Given the description of an element on the screen output the (x, y) to click on. 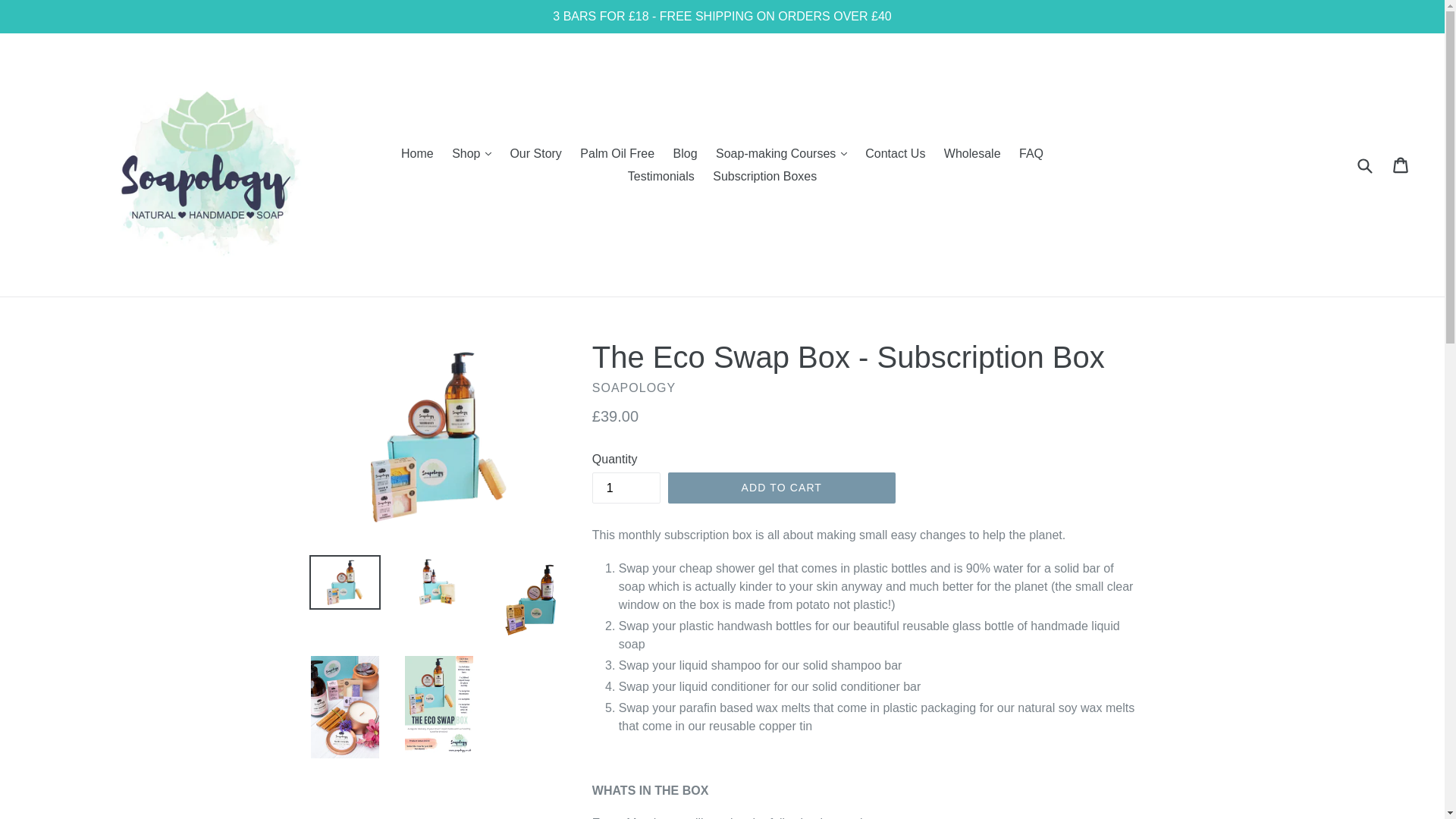
Home (417, 153)
1 (626, 487)
